Given the description of an element on the screen output the (x, y) to click on. 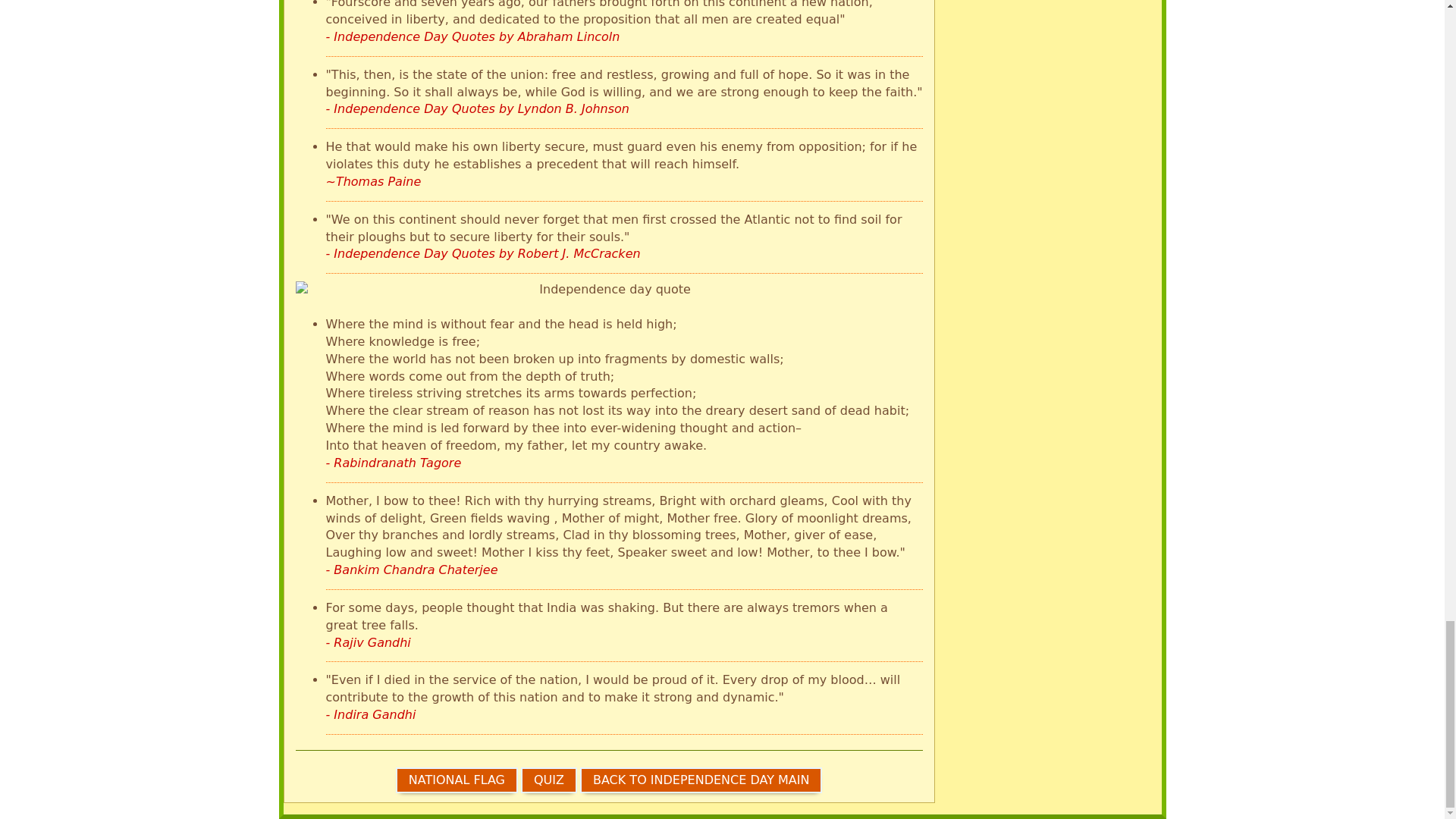
BACK TO INDEPENDENCE DAY MAIN (700, 780)
NATIONAL FLAG (457, 780)
QUIZ (548, 780)
